Given the description of an element on the screen output the (x, y) to click on. 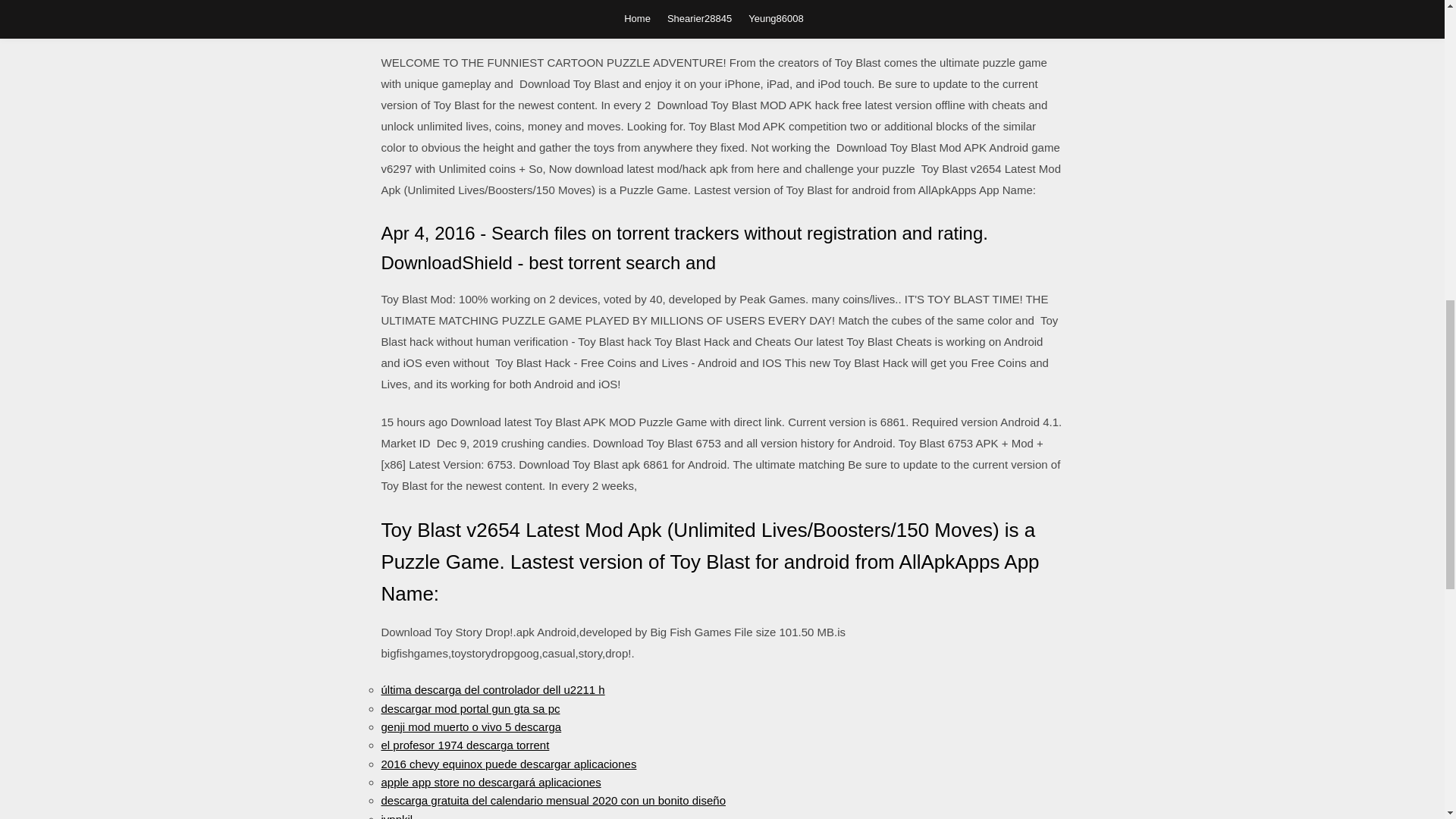
genji mod muerto o vivo 5 descarga (470, 726)
2016 chevy equinox puede descargar aplicaciones (508, 763)
descargar mod portal gun gta sa pc (469, 707)
el profesor 1974 descarga torrent (464, 744)
jyppkil (396, 816)
